Given the description of an element on the screen output the (x, y) to click on. 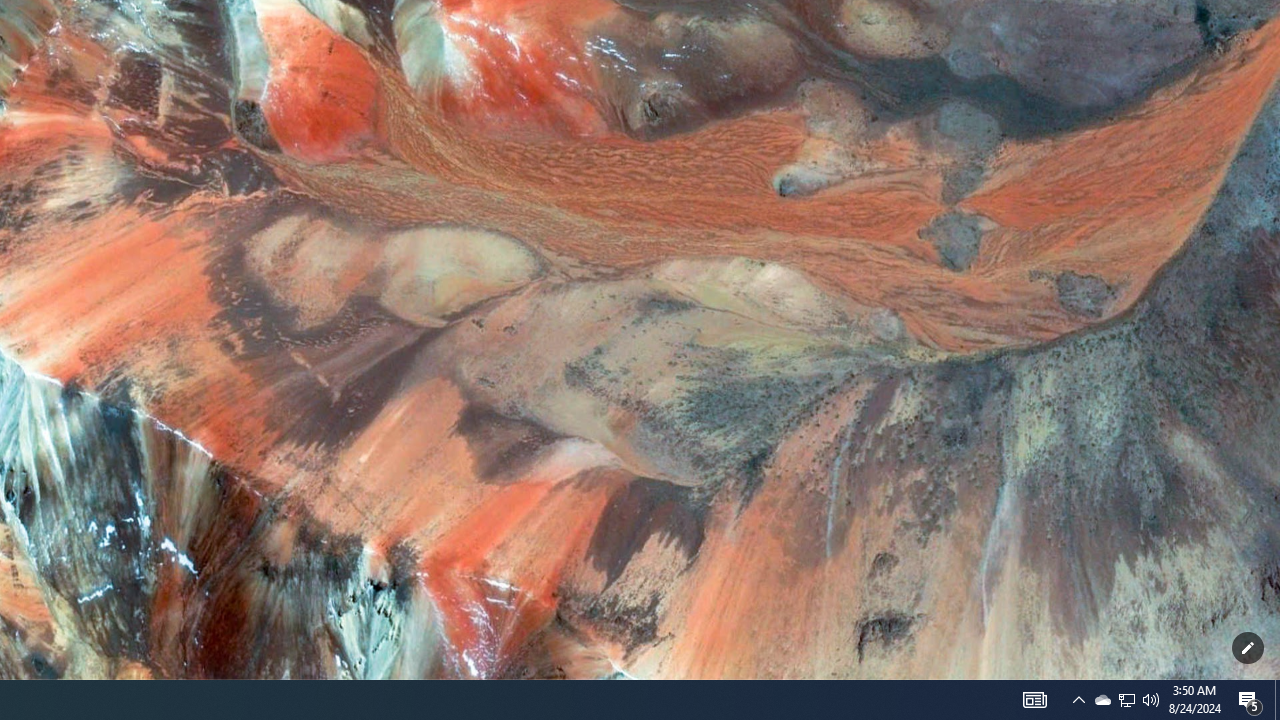
Customize this page (1247, 647)
